Given the description of an element on the screen output the (x, y) to click on. 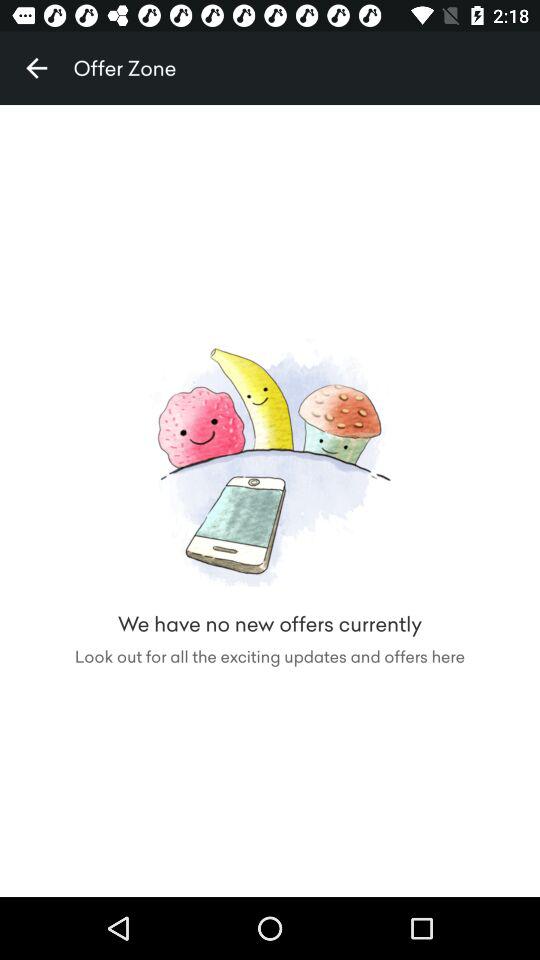
tap the item next to the offer zone icon (36, 67)
